Given the description of an element on the screen output the (x, y) to click on. 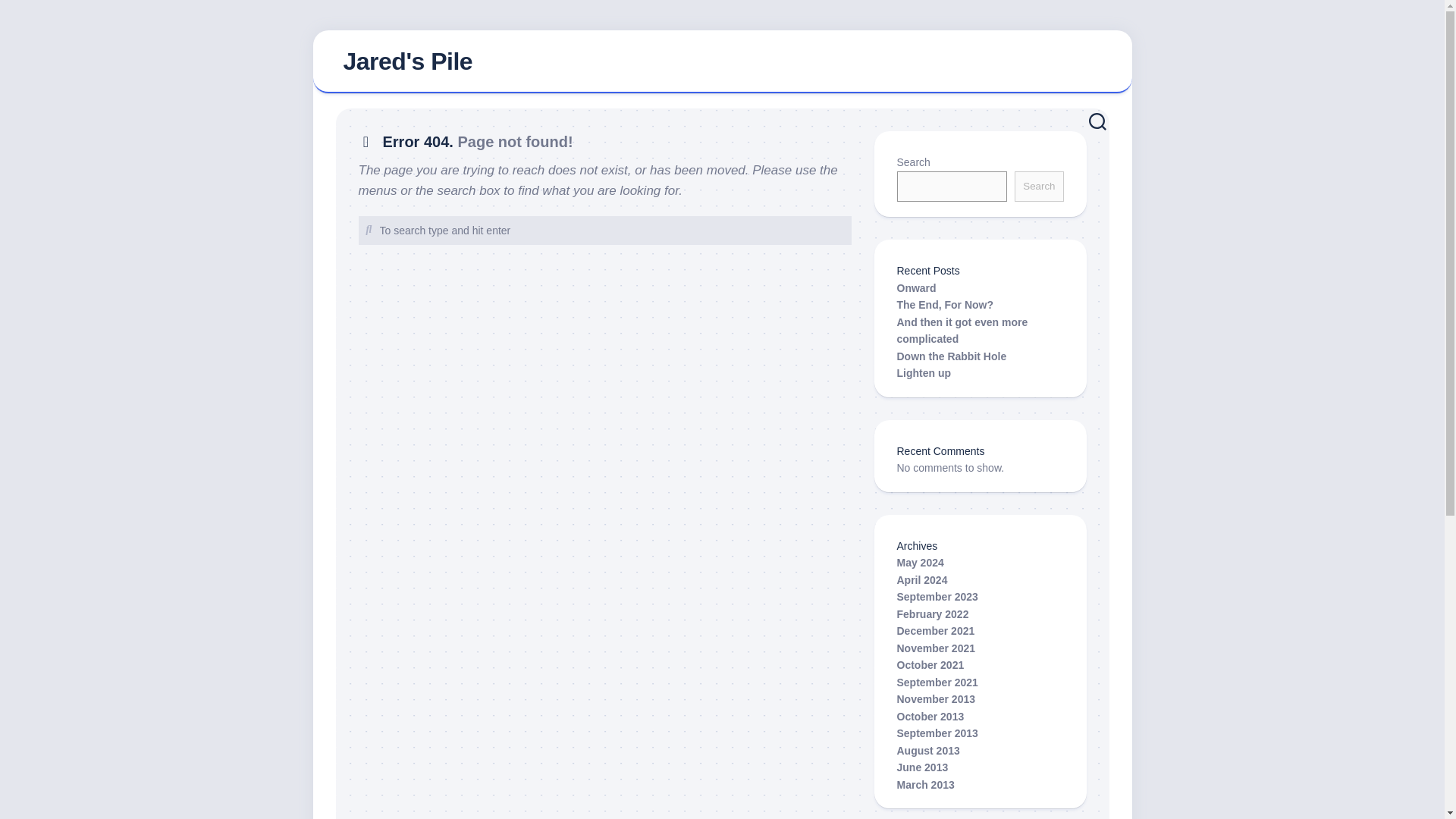
Onward (916, 287)
November 2013 (935, 698)
Search (1038, 186)
September 2021 (936, 682)
Lighten up (923, 372)
October 2013 (929, 715)
The End, For Now? (944, 304)
October 2021 (929, 664)
And then it got even more complicated (961, 329)
May 2024 (919, 562)
August 2013 (927, 750)
To search type and hit enter (604, 230)
Jared's Pile (722, 62)
To search type and hit enter (604, 230)
